Given the description of an element on the screen output the (x, y) to click on. 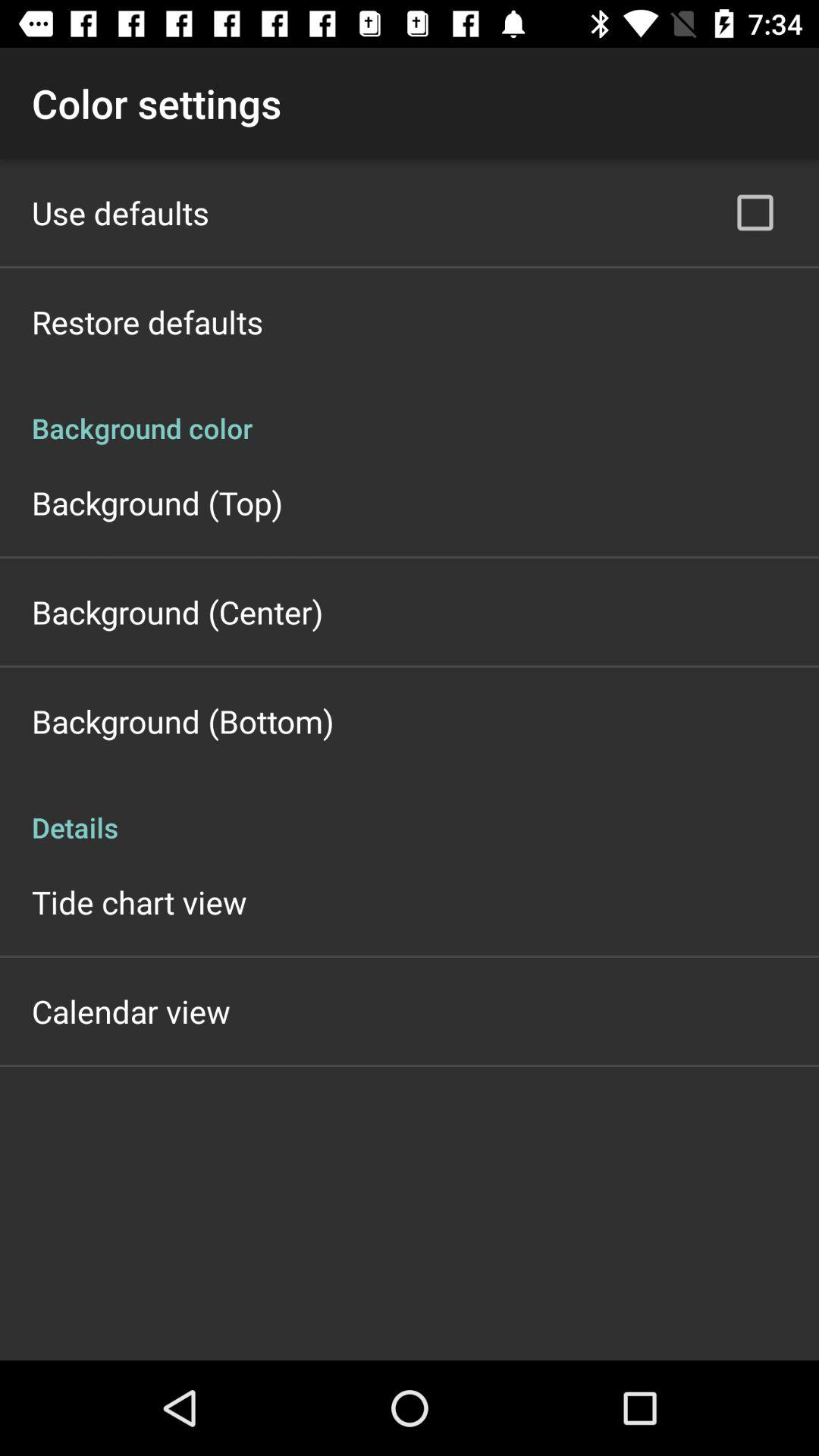
jump to background (bottom) app (182, 720)
